Given the description of an element on the screen output the (x, y) to click on. 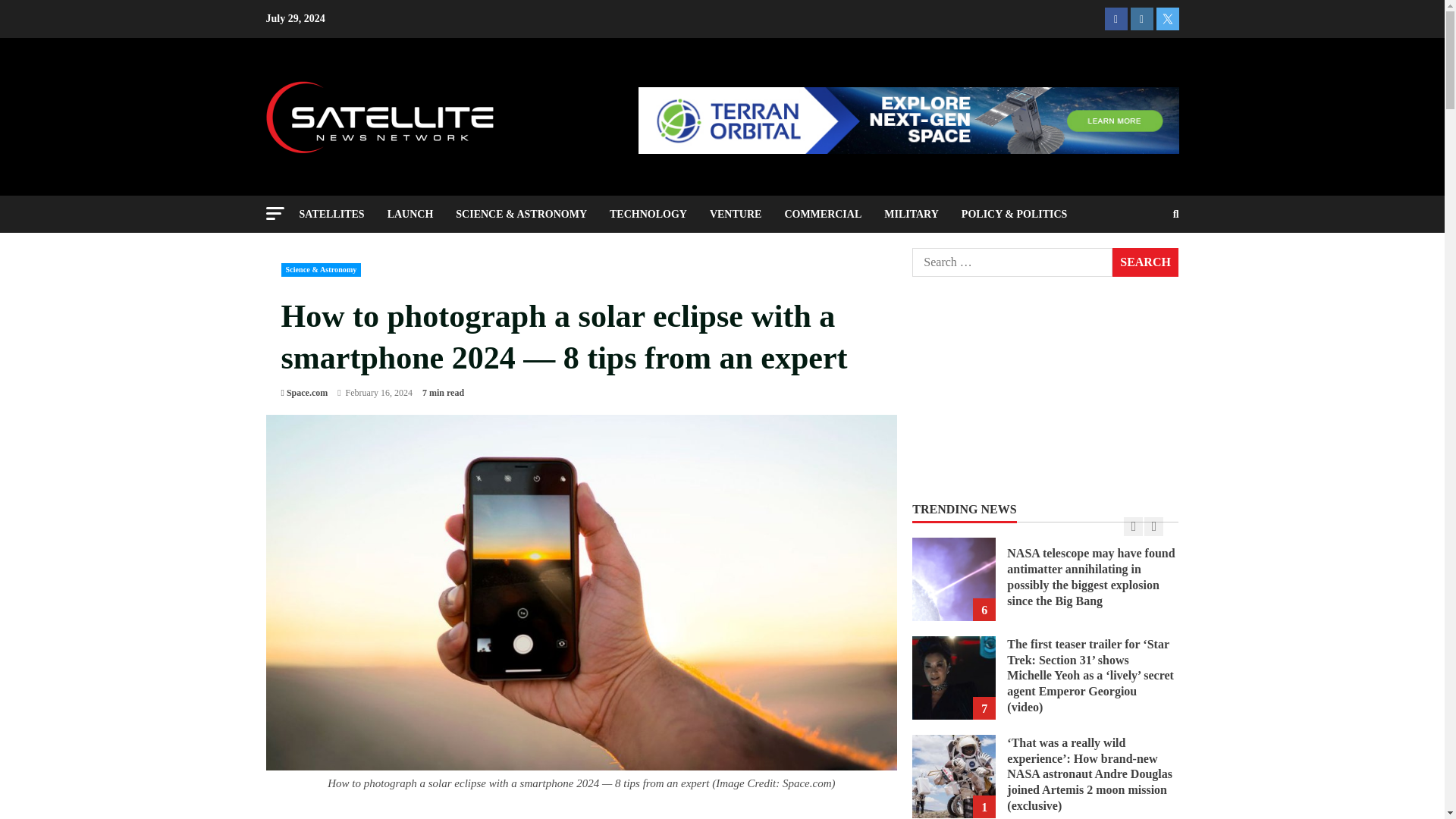
TECHNOLOGY (648, 213)
VENTURE (735, 213)
ENTERTAINMENT (443, 251)
Search (1145, 262)
Terran Orbital (908, 119)
Search (1139, 265)
SATELLITES (336, 213)
Space.com (306, 392)
MILITARY (911, 213)
INTERVIEWS (344, 251)
COMMERCIAL (822, 213)
LAUNCH (410, 213)
Search (1145, 262)
